Given the description of an element on the screen output the (x, y) to click on. 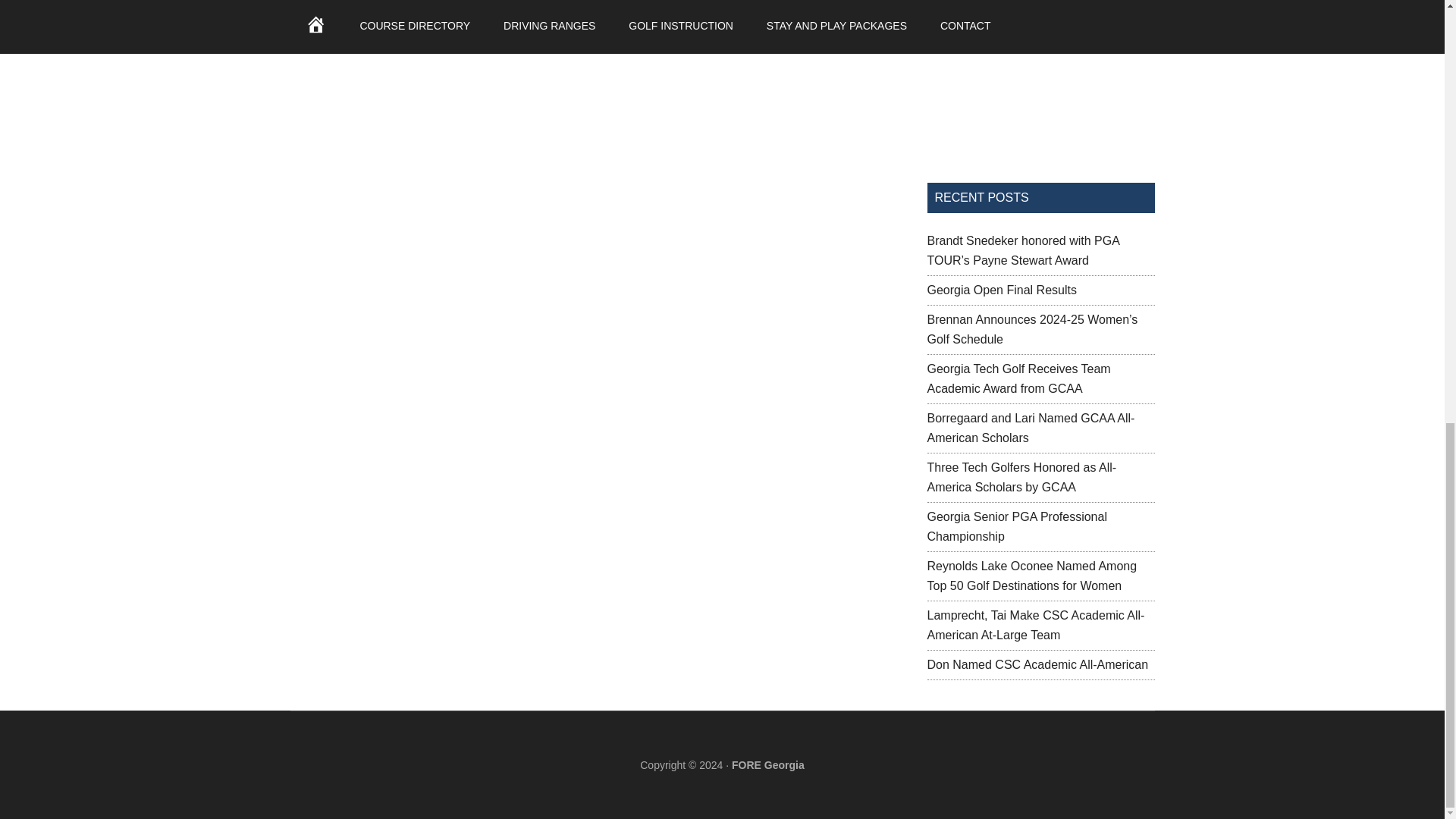
Borregaard and Lari Named GCAA All-American Scholars (1030, 427)
Georgia Tech Golf Receives Team Academic Award from GCAA (1017, 378)
Three Tech Golfers Honored as All-America Scholars by GCAA (1021, 477)
Georgia Open Final Results (1000, 289)
Georgia Senior PGA Professional Championship (1016, 526)
Lamprecht, Tai Make CSC Academic All-American At-Large Team (1035, 625)
Advertisement (1040, 76)
Don Named CSC Academic All-American (1037, 664)
